Given the description of an element on the screen output the (x, y) to click on. 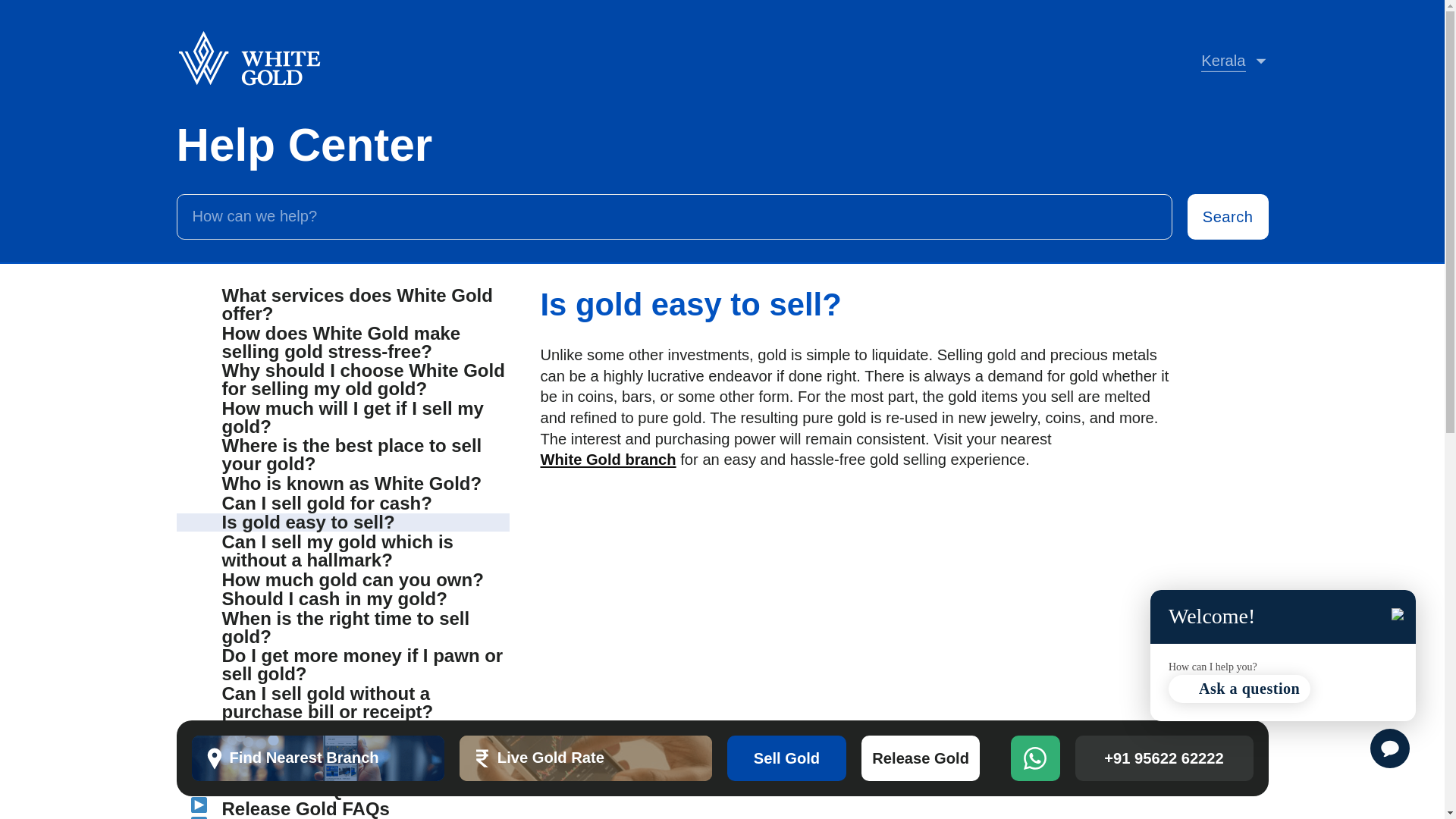
Search (1228, 216)
Can I sell gold without a purchase bill or receipt? (342, 702)
Who is known as White Gold? (317, 758)
Privacy Policy (342, 484)
Can I sell my gold which is without a hallmark? (342, 731)
Can I sell gold for cash? (585, 758)
Is gold easy to sell? (342, 551)
